Given the description of an element on the screen output the (x, y) to click on. 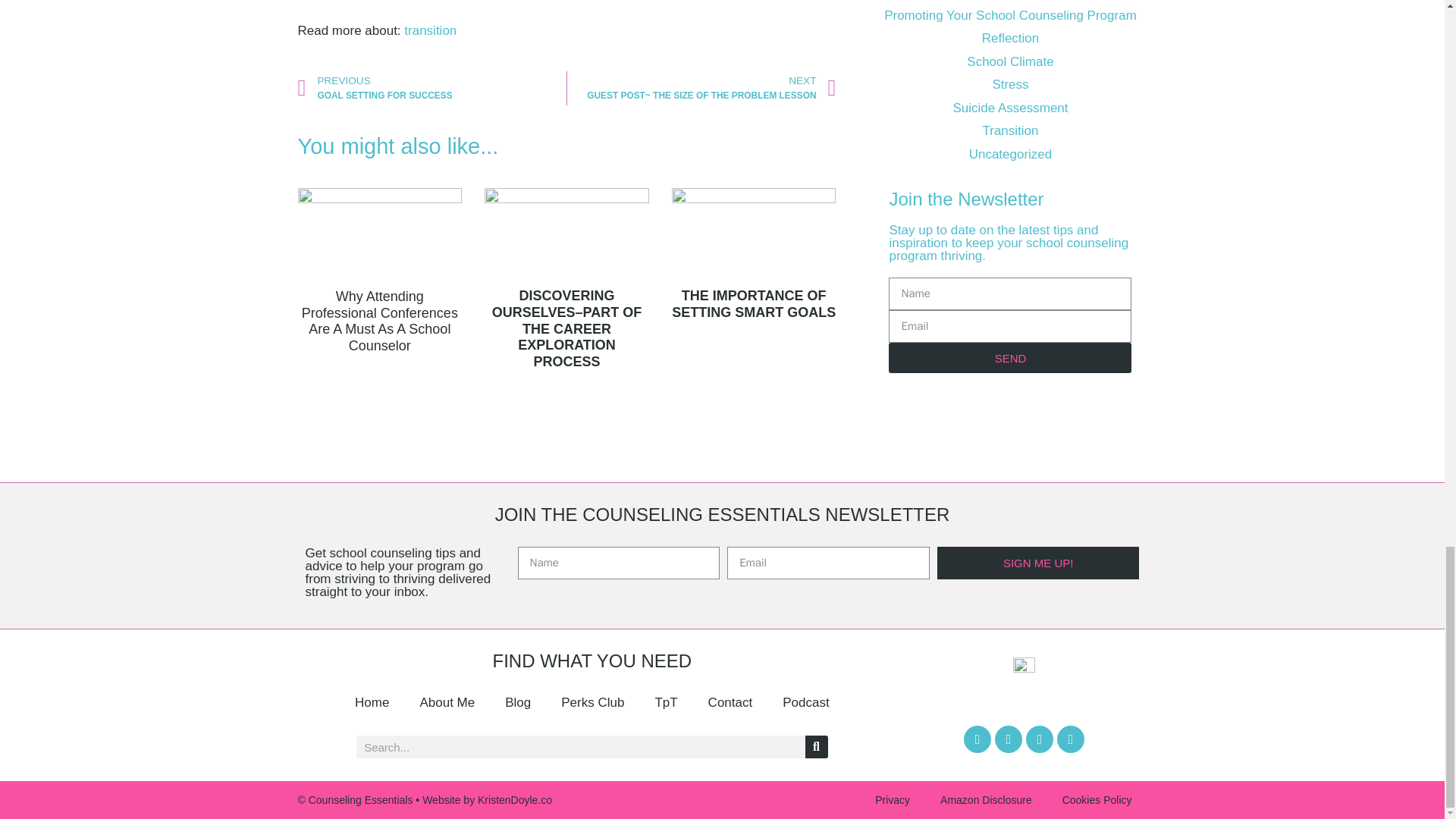
transition (430, 30)
Search (816, 746)
THE IMPORTANCE OF SETTING SMART GOALS (753, 304)
Search (431, 88)
